Given the description of an element on the screen output the (x, y) to click on. 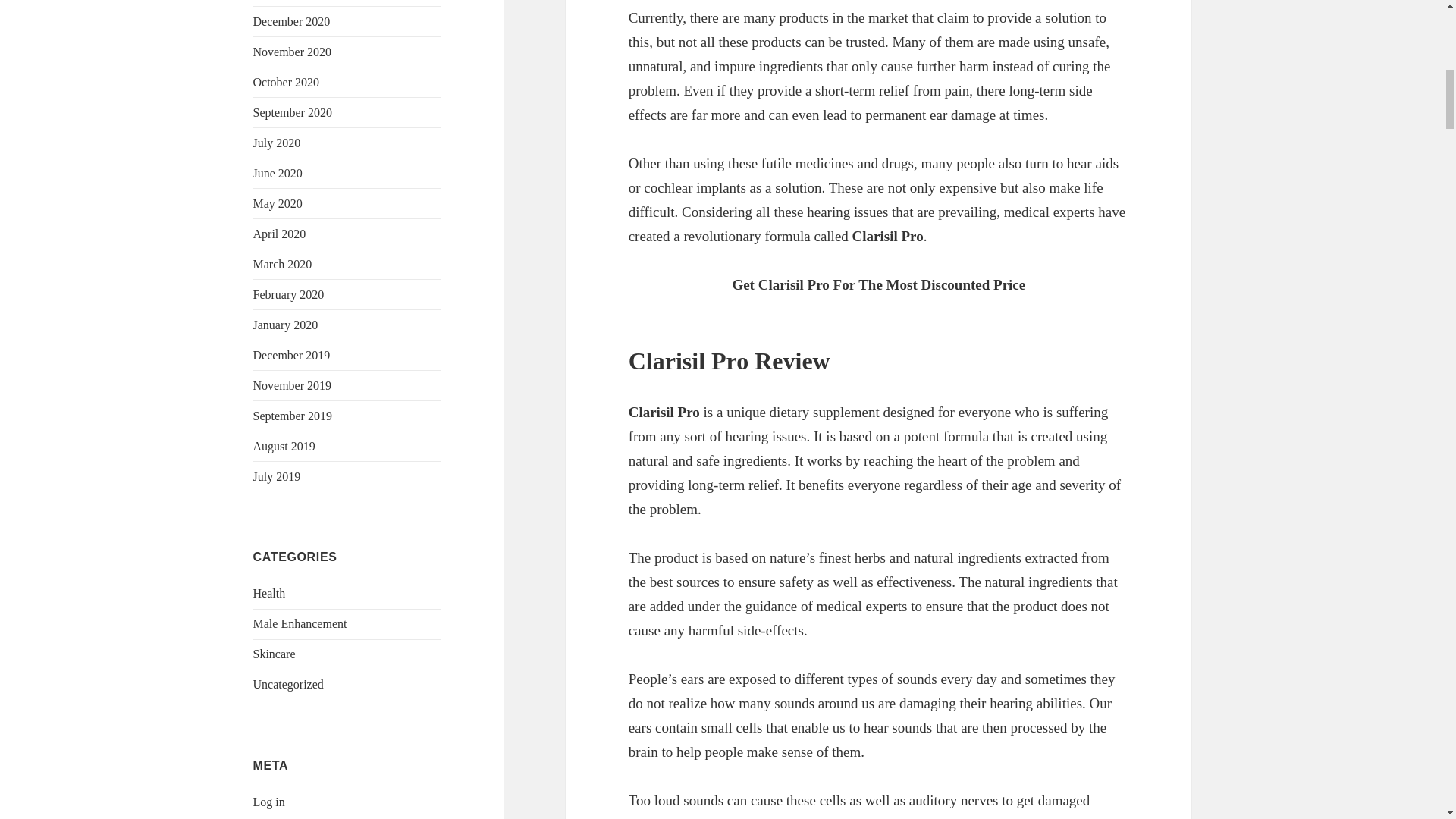
Get Clarisil Pro For The Most Discounted Price (878, 284)
May 2020 (277, 203)
January 2020 (285, 324)
Uncategorized (288, 684)
September 2020 (292, 112)
July 2020 (277, 142)
November 2019 (292, 385)
December 2020 (291, 21)
November 2020 (292, 51)
March 2020 (283, 264)
February 2020 (288, 294)
September 2019 (292, 415)
October 2020 (286, 82)
December 2019 (291, 354)
Male Enhancement (300, 623)
